Given the description of an element on the screen output the (x, y) to click on. 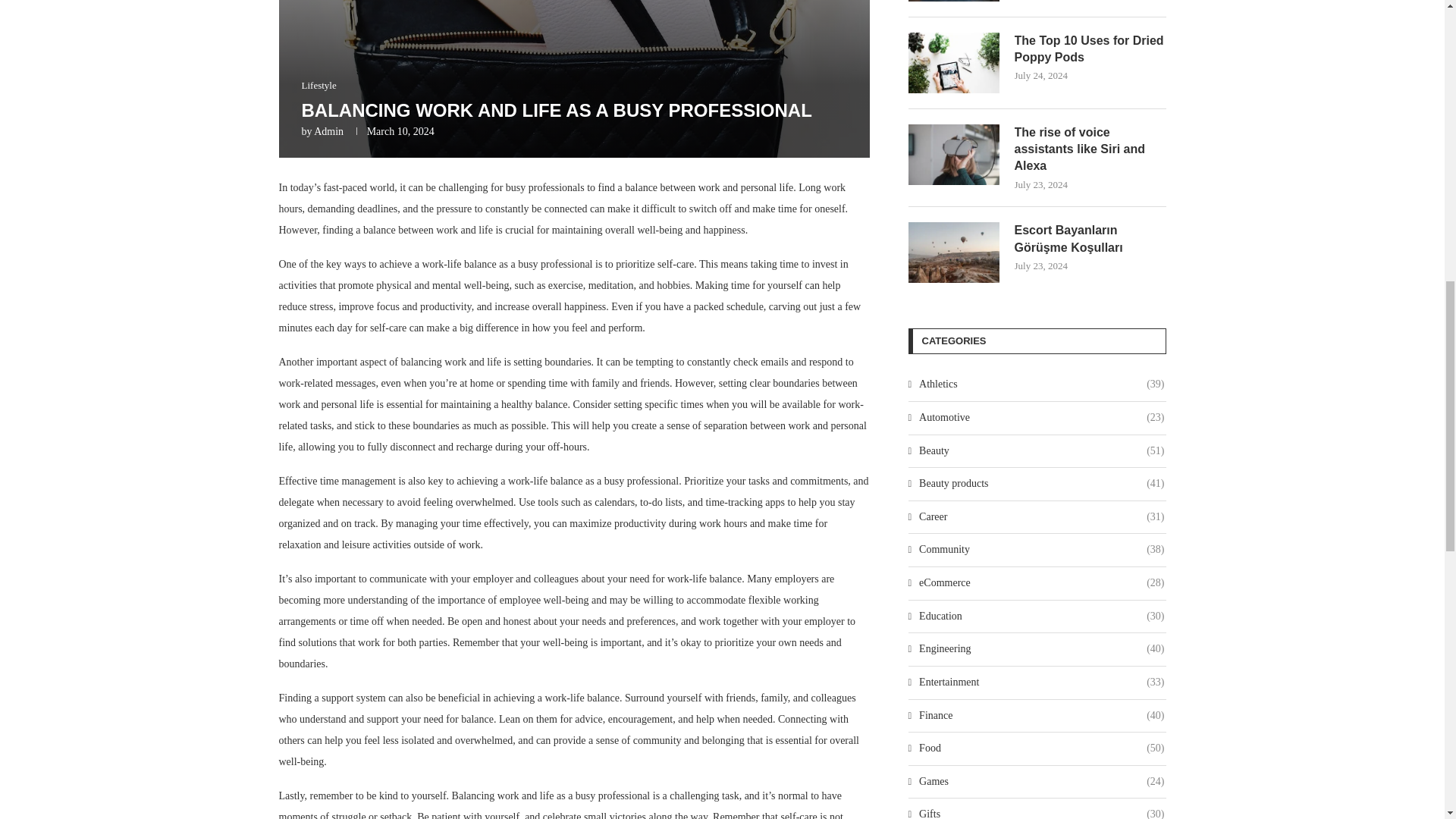
The Top 10 Uses for Dried Poppy Pods (1090, 48)
The Top 10 Uses for Dried Poppy Pods (953, 61)
The role of insurance in protecting your assets (953, 0)
Lifestyle (318, 85)
The rise of voice assistants like Siri and Alexa (1090, 149)
The rise of voice assistants like Siri and Alexa (953, 154)
